Given the description of an element on the screen output the (x, y) to click on. 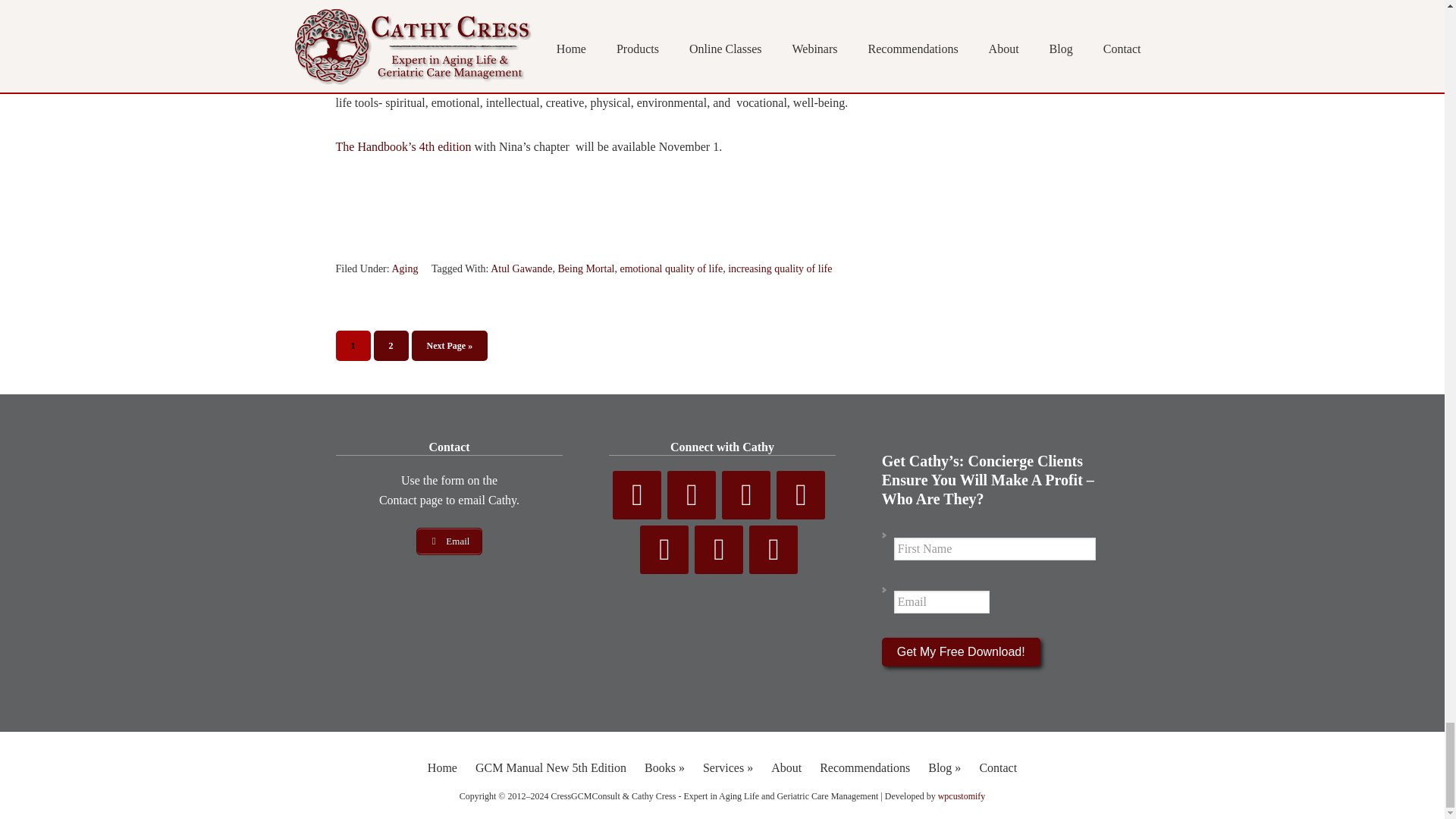
YouTube (746, 494)
LinkedIn (664, 549)
Twitter (691, 494)
Pinterest (800, 494)
Facebook (636, 494)
Get My Free Download! (961, 652)
Newsletter (718, 549)
